Given the description of an element on the screen output the (x, y) to click on. 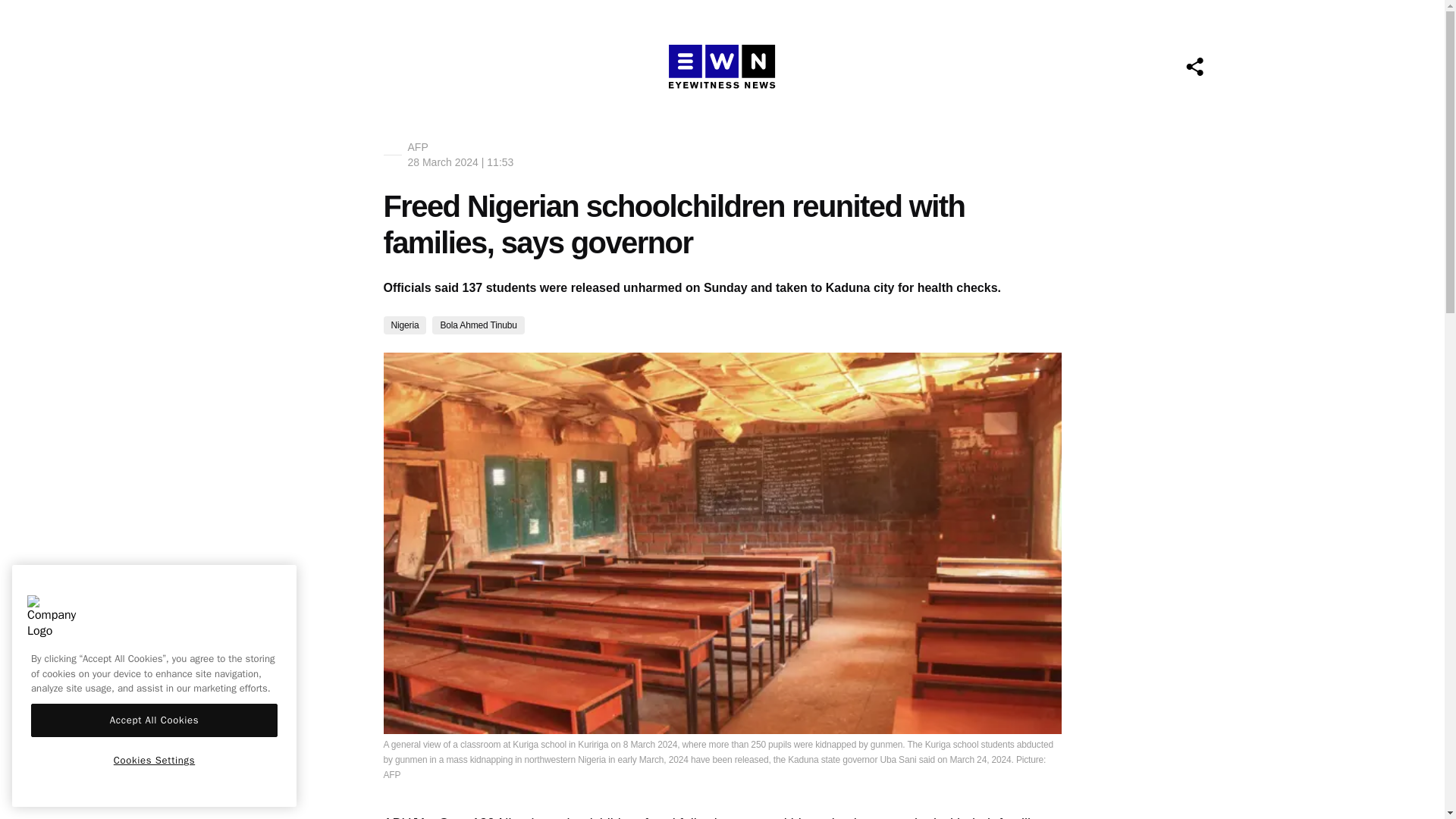
Accept All Cookies (154, 720)
Company Logo (51, 619)
Bola Ahmed Tinubu (478, 325)
Cookies Settings (154, 760)
Nigeria (405, 325)
